Given the description of an element on the screen output the (x, y) to click on. 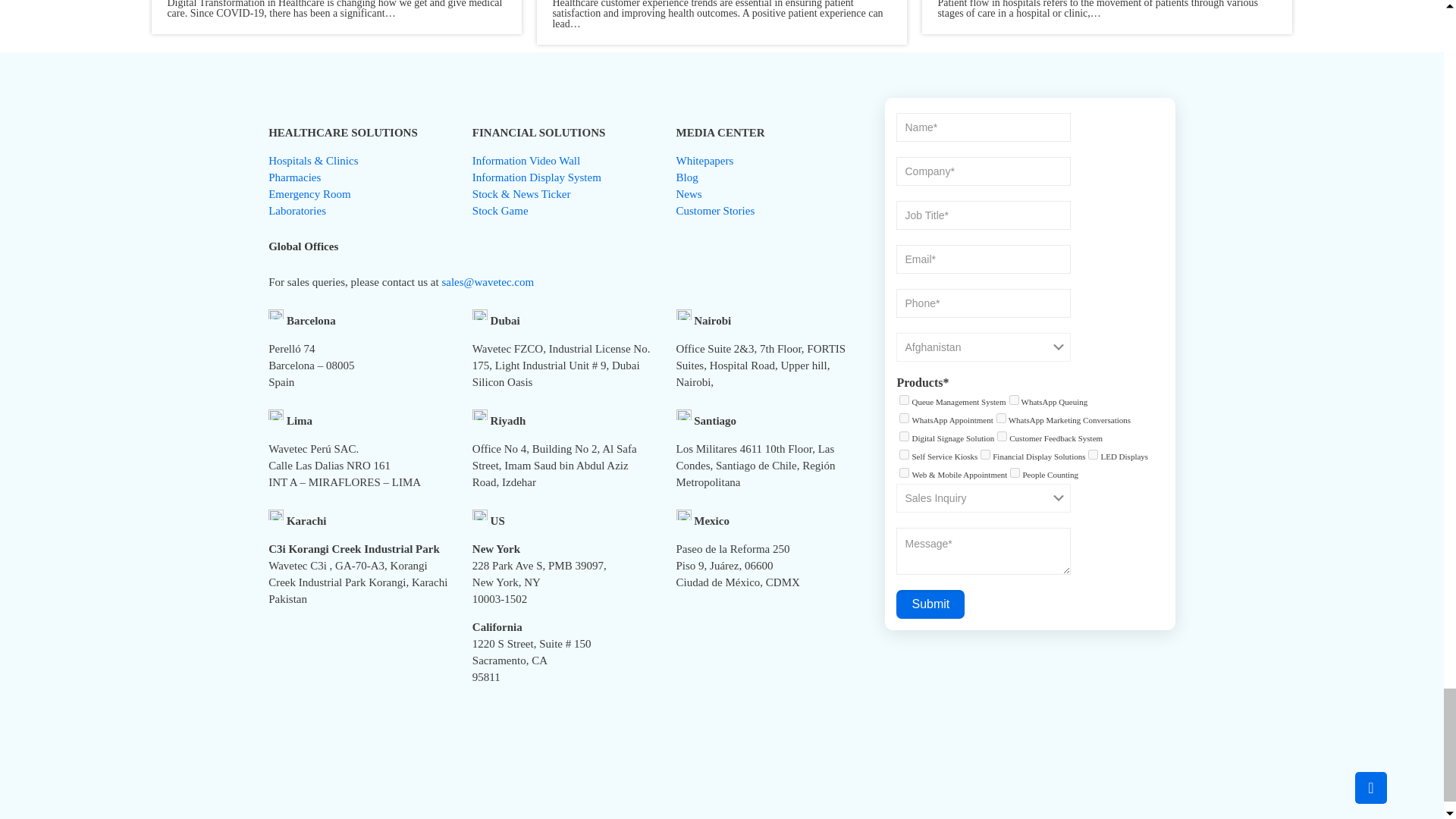
WhatsApp Queuing (1014, 399)
WhatsApp Marketing Conversations (1000, 418)
People Counting (1015, 472)
Self Service Kiosks (903, 454)
Financial Display Solutions (984, 454)
LED Displays (1092, 454)
Queue Management System (903, 399)
Digital Signage Solution (903, 436)
Submit (929, 604)
WhatsApp Appointment (903, 418)
